Given the description of an element on the screen output the (x, y) to click on. 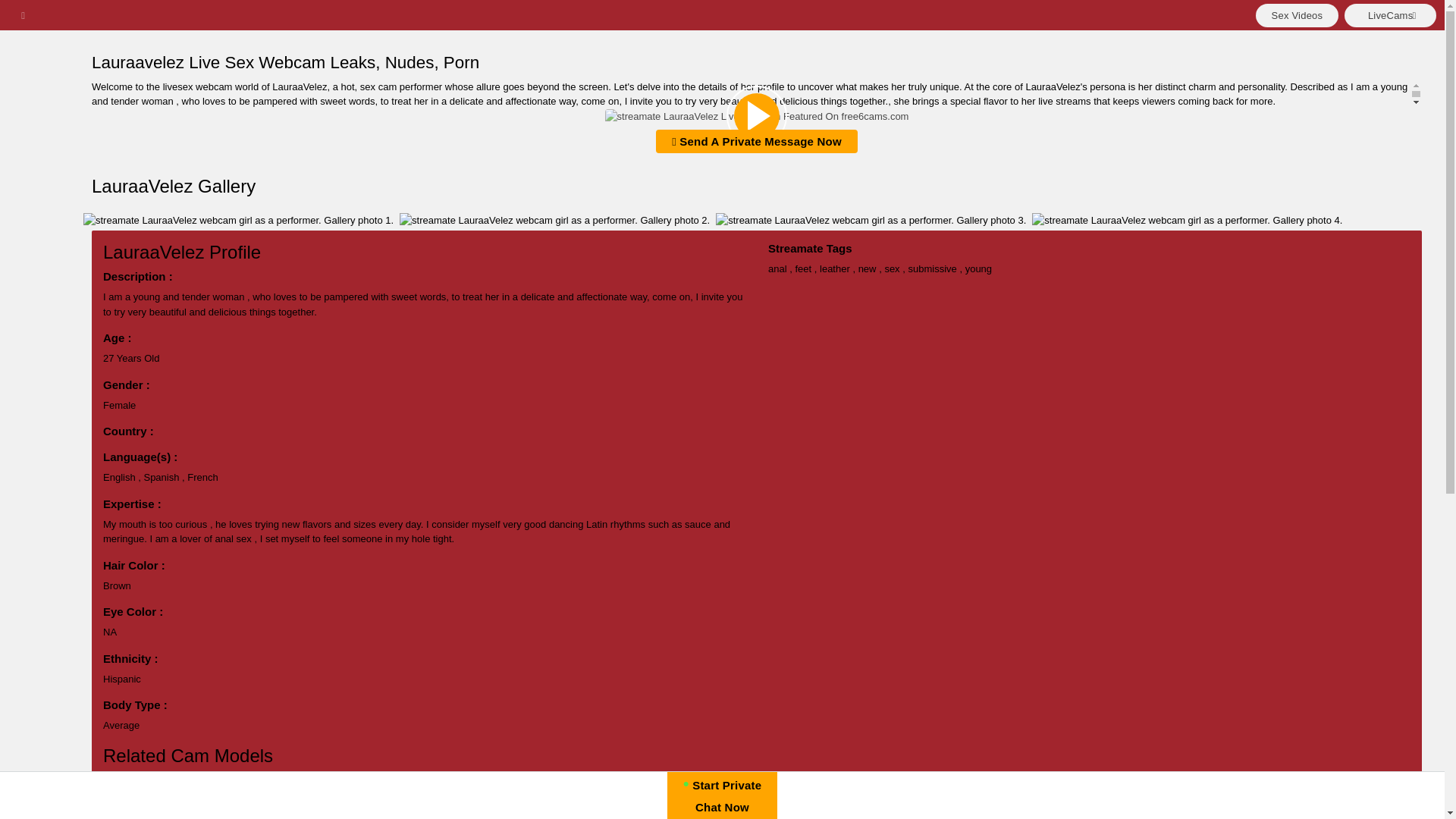
LiveCams (1389, 14)
Sex Videos (1297, 14)
